Given the description of an element on the screen output the (x, y) to click on. 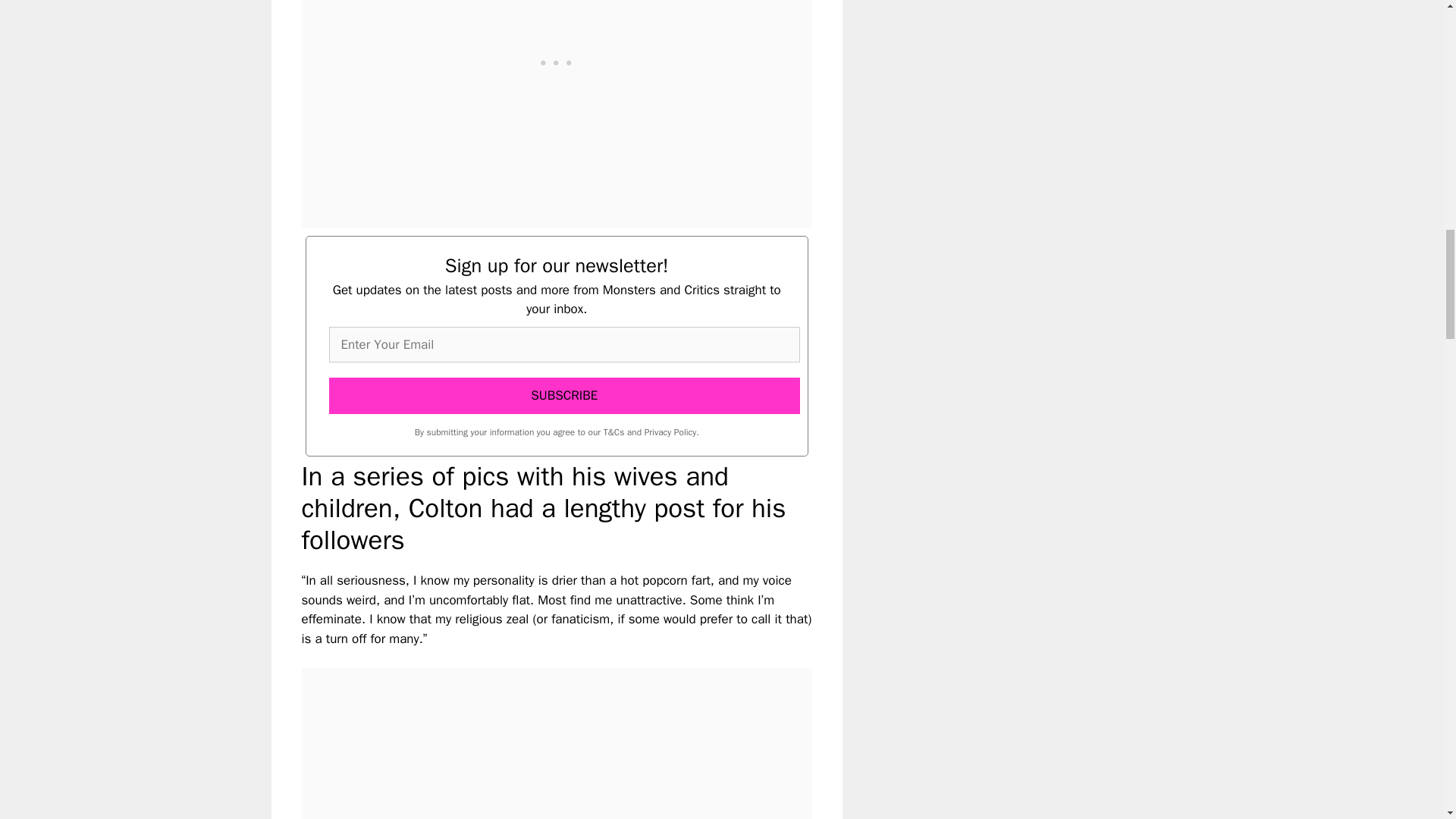
SUBSCRIBE (564, 395)
SUBSCRIBE (564, 395)
